Given the description of an element on the screen output the (x, y) to click on. 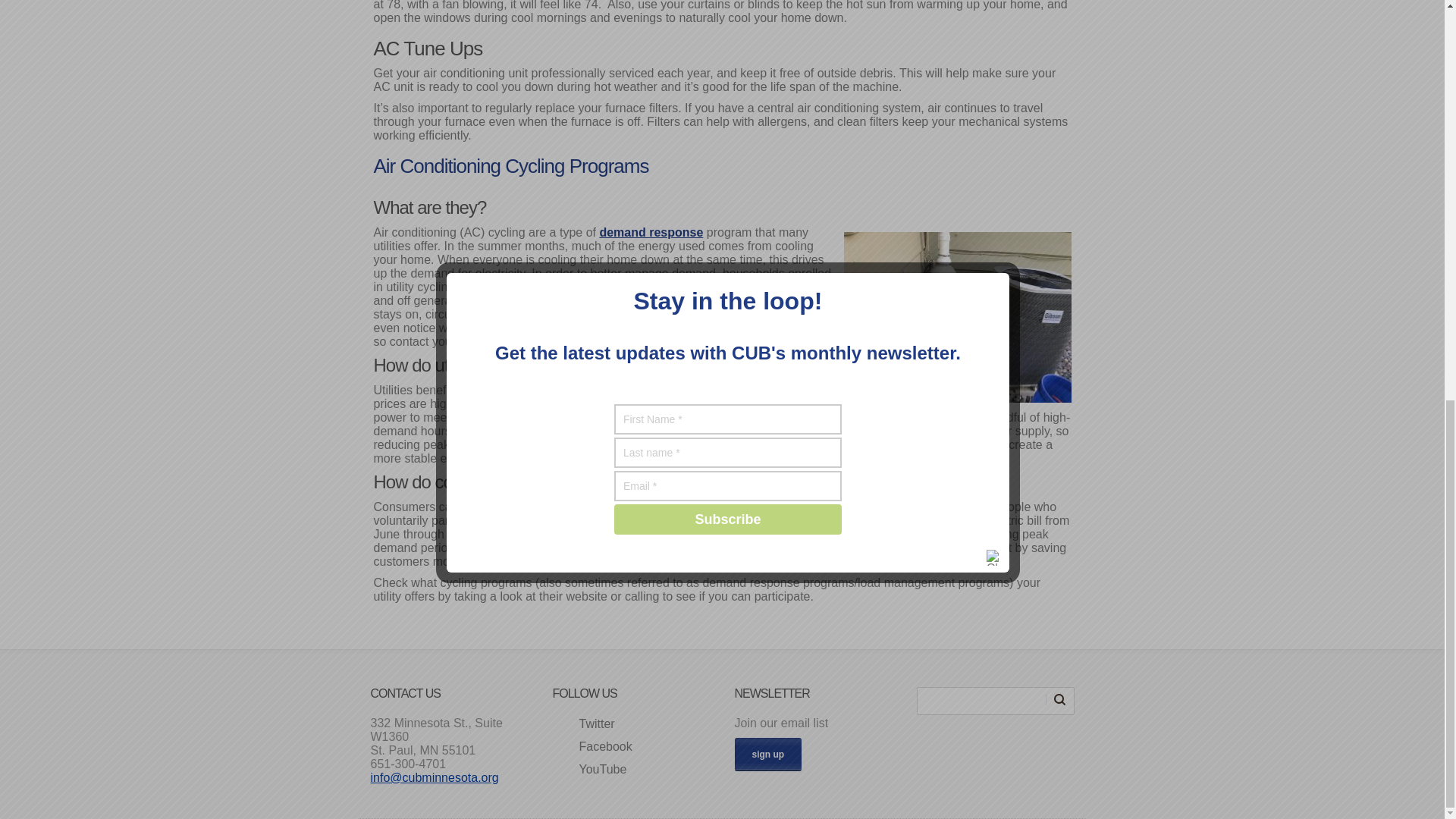
sign up (767, 754)
Air Conditioning Cycling Programs (509, 165)
Search (1059, 698)
YouTube (588, 770)
Facebook (591, 747)
651-300-4701 (407, 763)
Search (1059, 698)
demand response (650, 232)
Twitter (582, 724)
